Given the description of an element on the screen output the (x, y) to click on. 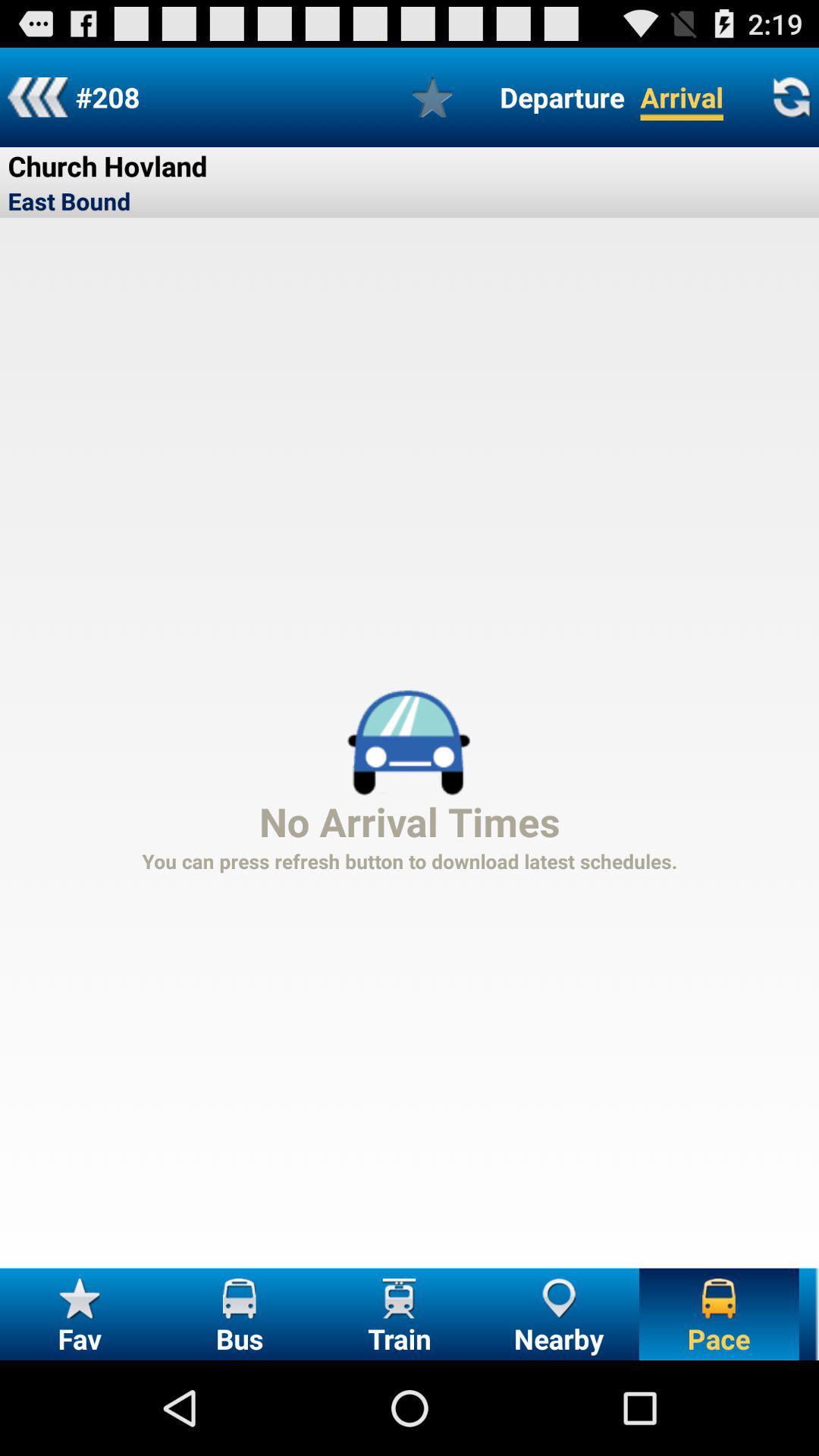
return to previous screen (37, 97)
